Given the description of an element on the screen output the (x, y) to click on. 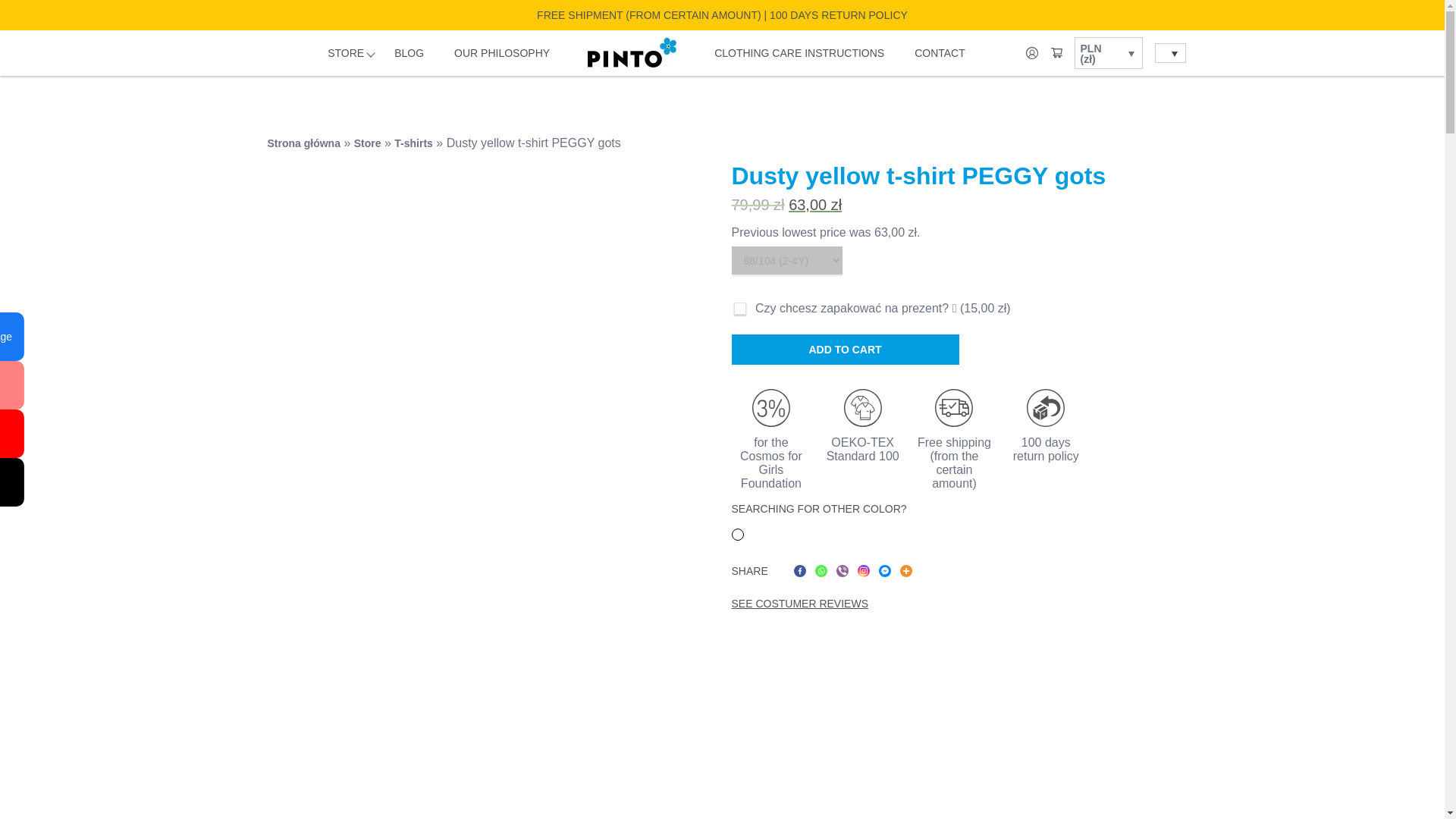
Viber (841, 571)
Whatsapp (821, 571)
1 (739, 308)
Instagram (863, 571)
CLOTHING CARE INSTRUCTIONS (798, 53)
CONTACT (939, 53)
Facebook (799, 571)
More (905, 571)
OUR PHILOSOPHY (502, 53)
